Given the description of an element on the screen output the (x, y) to click on. 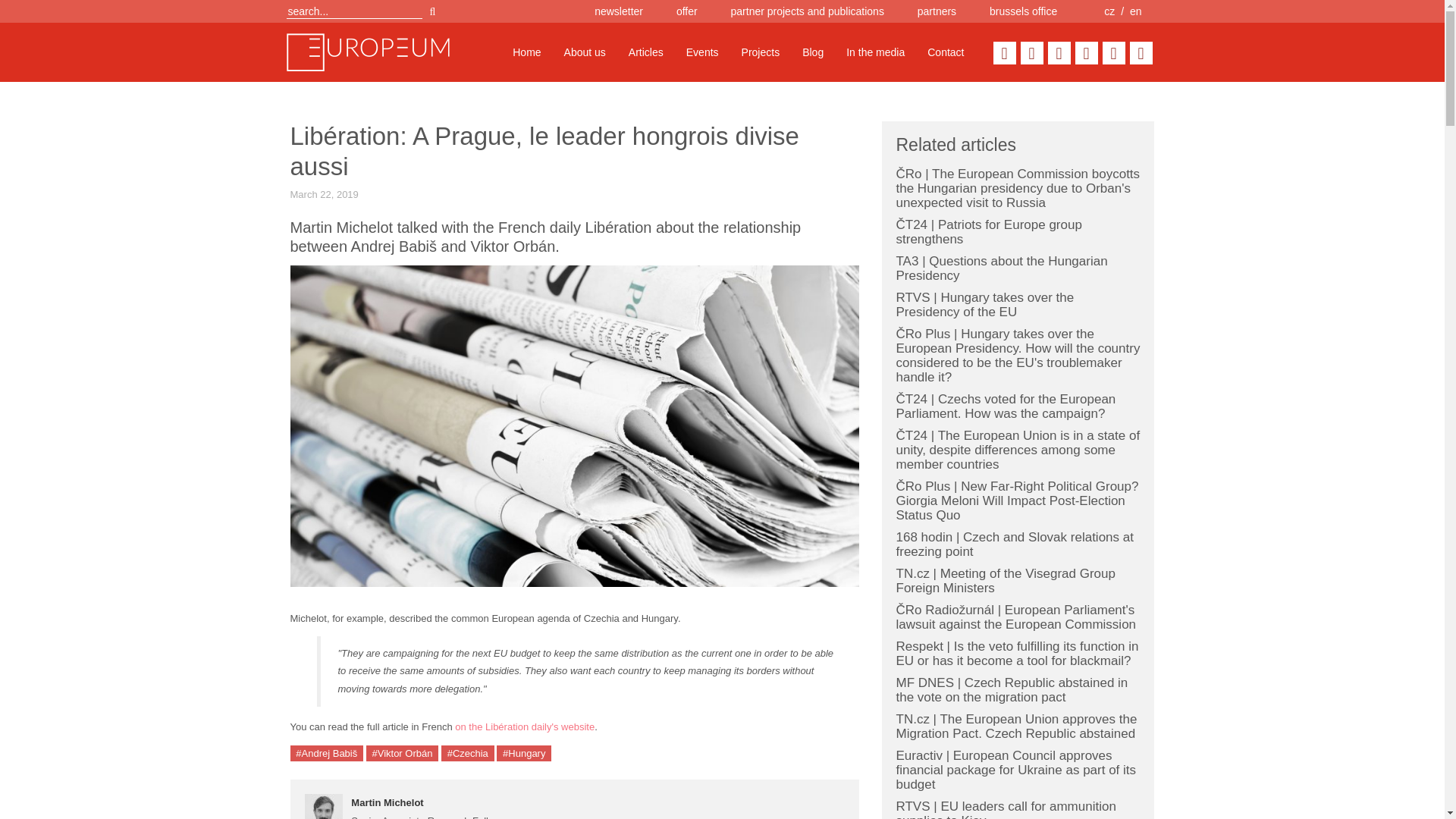
Articles (646, 51)
Martin Michelot (386, 802)
Home (525, 51)
brussels office (1023, 10)
About us (585, 51)
newsletter (618, 10)
offer (687, 10)
en (1135, 10)
Events (702, 51)
Projects (761, 51)
In the media (874, 51)
Contact (945, 51)
newsletter (618, 10)
partner projects and publications (806, 10)
partners (936, 10)
